Given the description of an element on the screen output the (x, y) to click on. 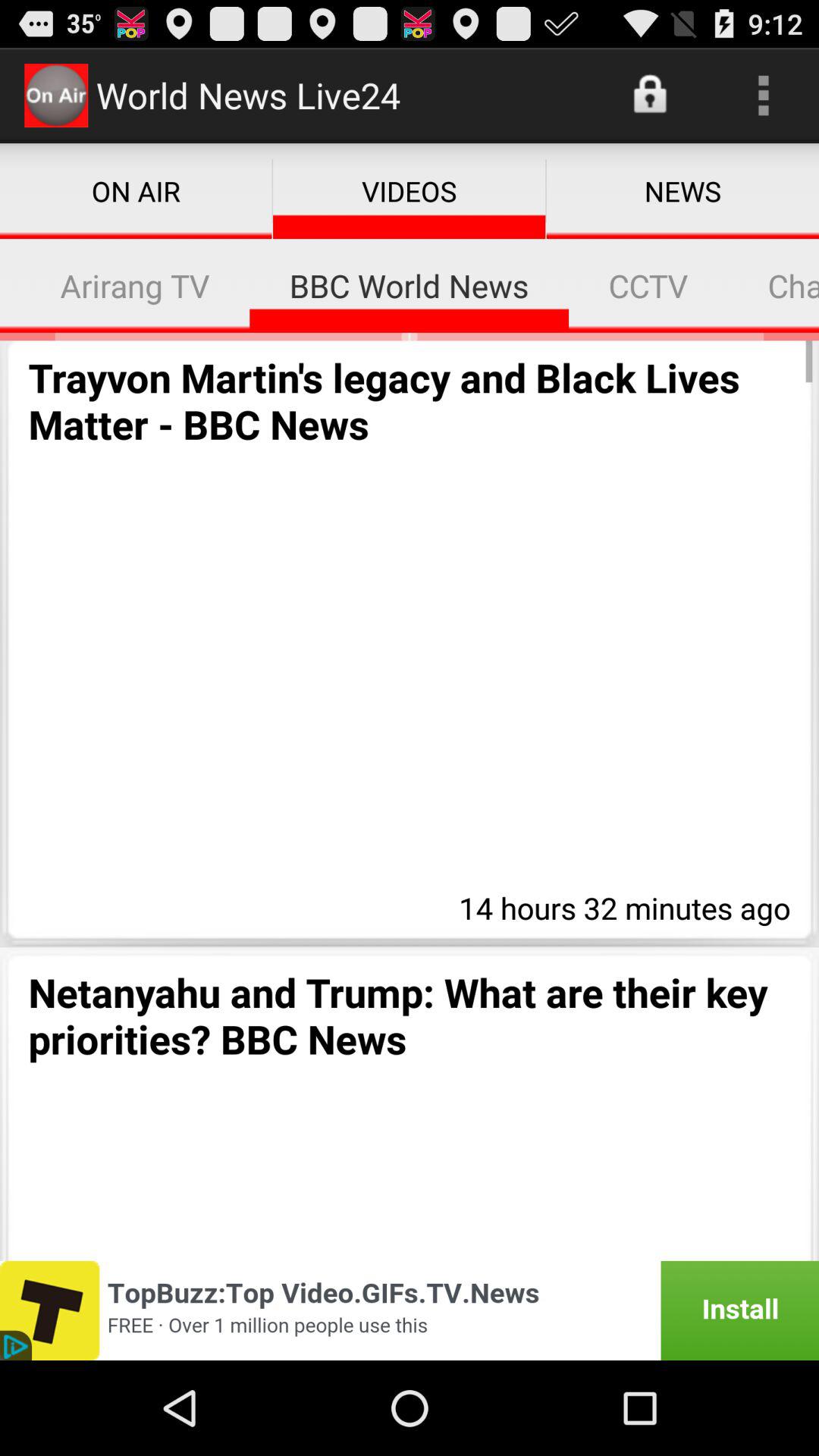
flip until trayvon martin s app (409, 400)
